Given the description of an element on the screen output the (x, y) to click on. 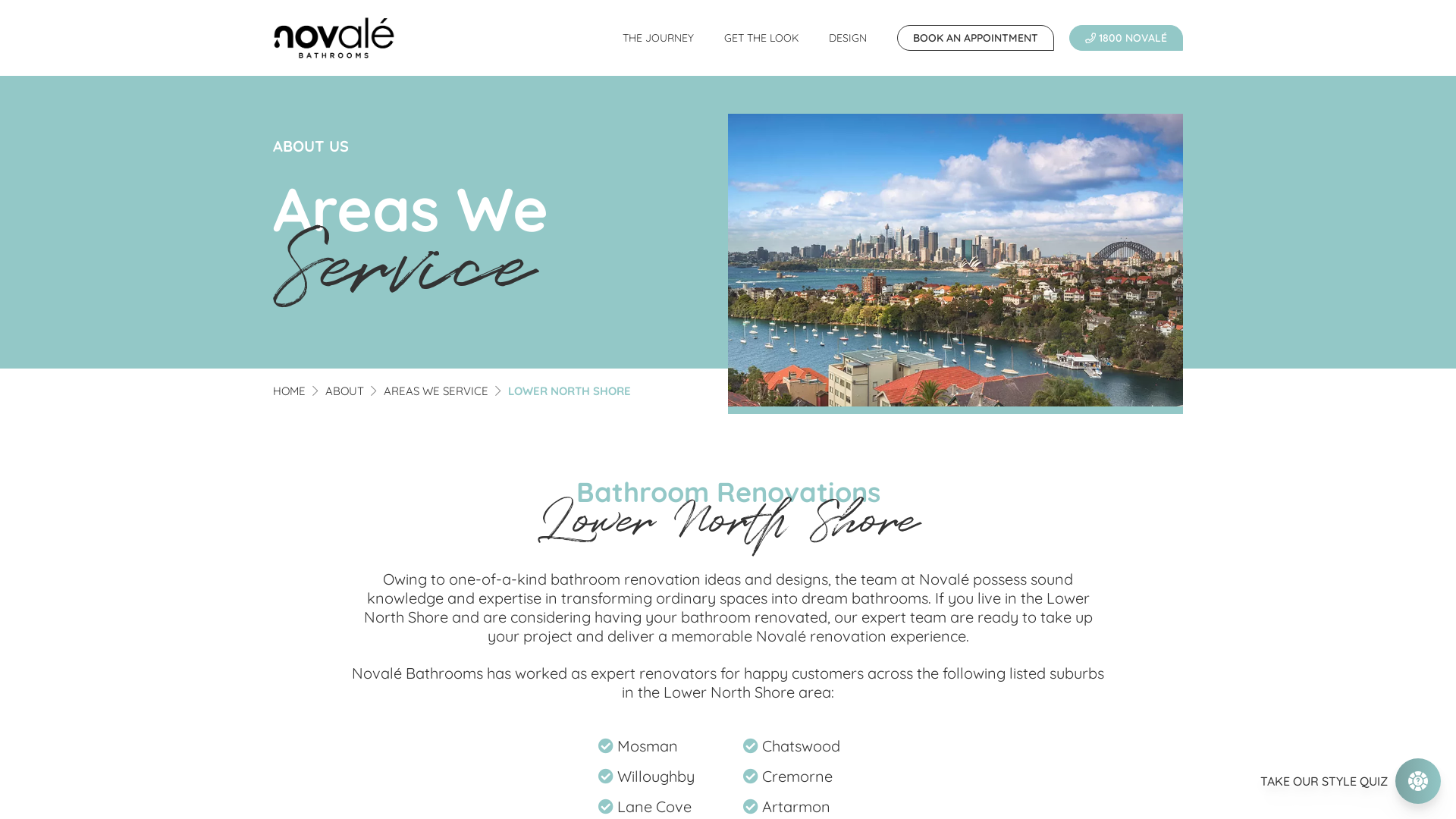
GET THE LOOK Element type: text (761, 37)
DESIGN Element type: text (847, 37)
HOME Element type: text (289, 390)
THE JOURNEY Element type: text (658, 37)
BOOK AN APPOINTMENT Element type: text (975, 37)
AREAS WE SERVICE Element type: text (435, 390)
ABOUT Element type: text (344, 390)
